Given the description of an element on the screen output the (x, y) to click on. 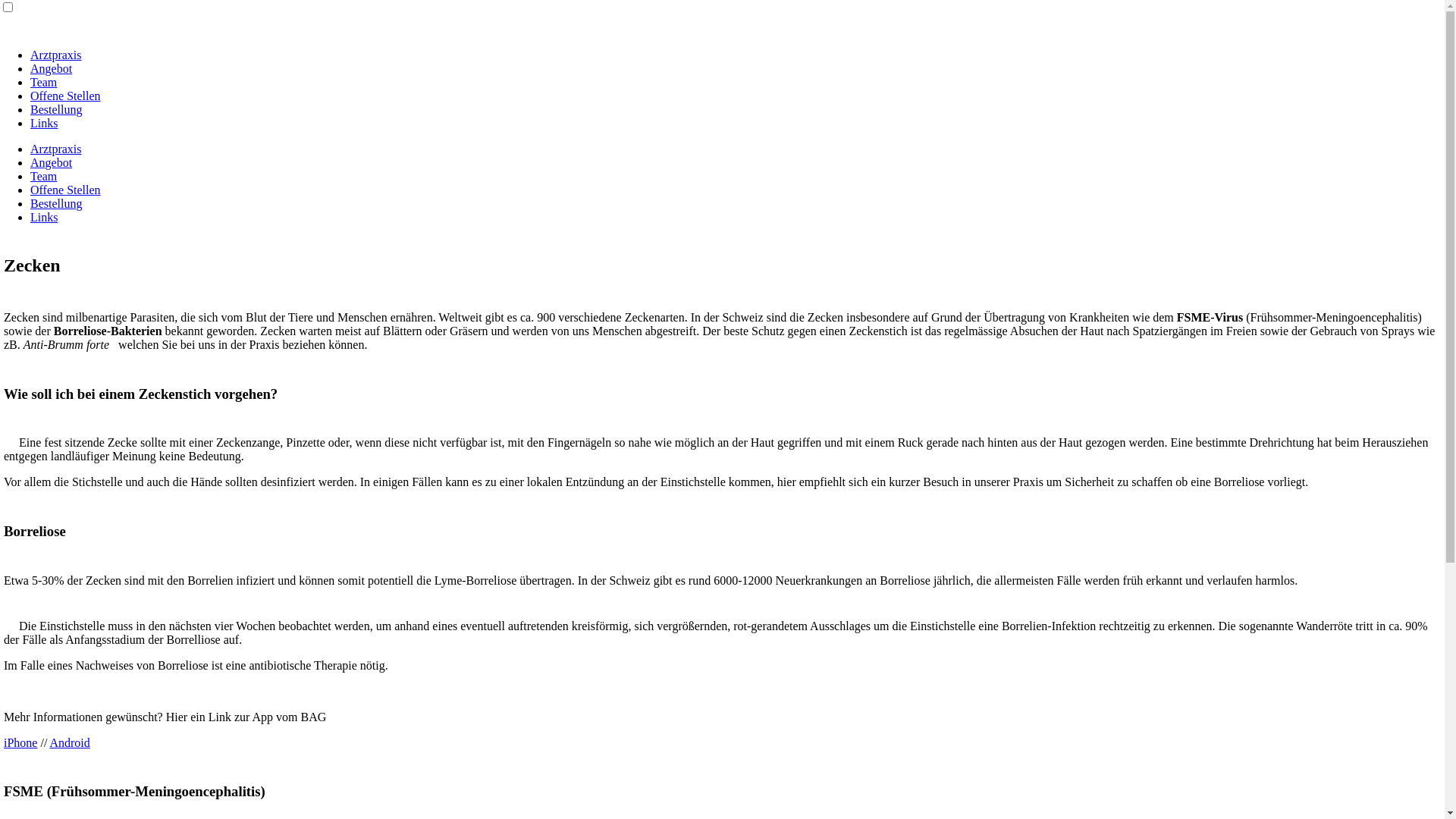
Offene Stellen Element type: text (65, 95)
Links Element type: text (43, 216)
Team Element type: text (43, 175)
Android Element type: text (69, 742)
Offene Stellen Element type: text (65, 189)
Angebot Element type: text (51, 68)
Bestellung Element type: text (55, 203)
Team Element type: text (43, 81)
iPhone Element type: text (20, 742)
Links Element type: text (43, 122)
Angebot Element type: text (51, 162)
Arztpraxis Element type: text (55, 148)
Bestellung Element type: text (55, 109)
Arztpraxis Element type: text (55, 54)
